Given the description of an element on the screen output the (x, y) to click on. 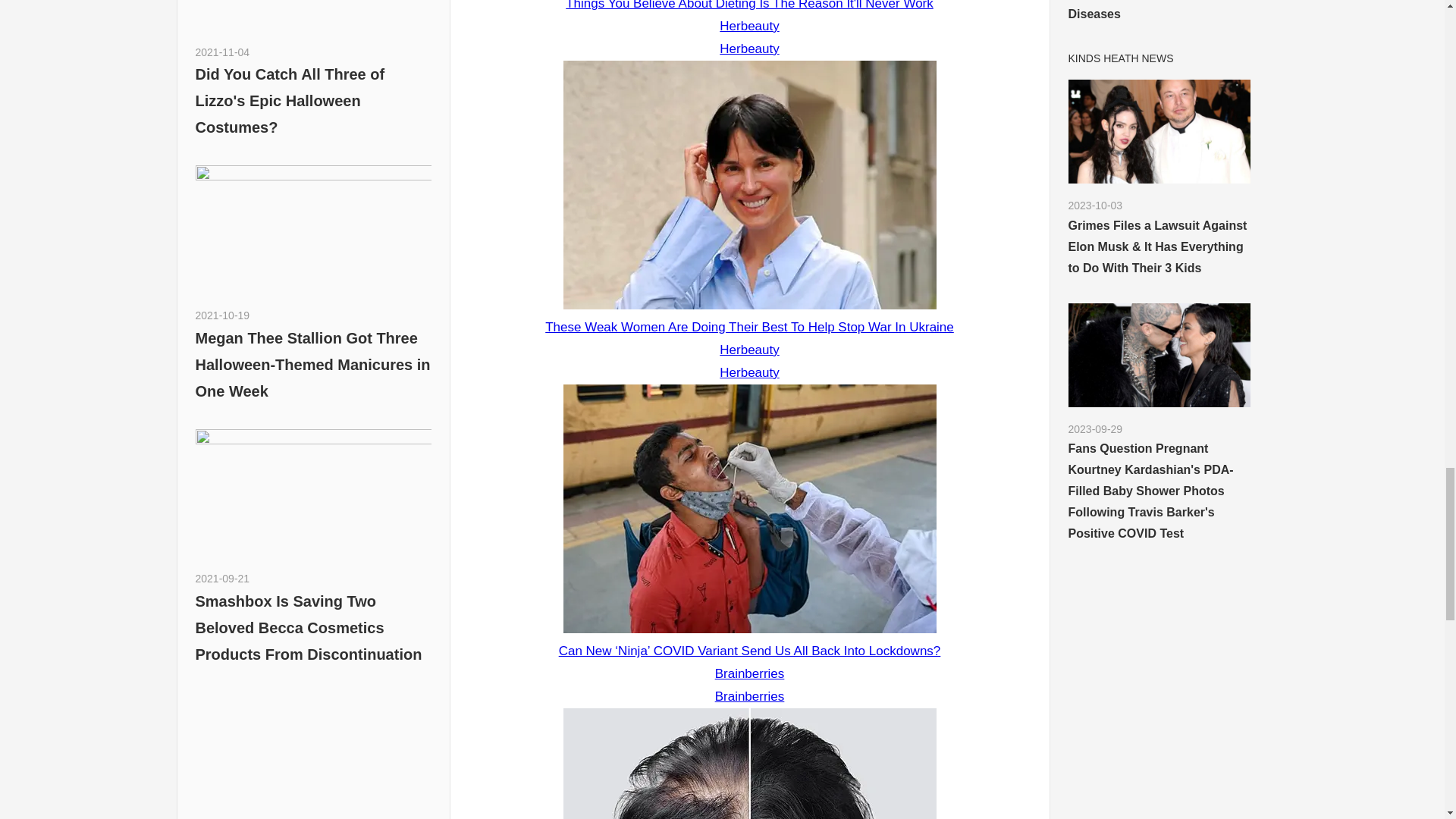
Did You Catch All Three of Lizzo's Epic Halloween Costumes? (290, 100)
2021-10-19 (222, 315)
2021-11-04 (222, 51)
2021-09-21 (222, 578)
19:24 (222, 578)
15:01 (222, 315)
13:48 (222, 51)
